Given the description of an element on the screen output the (x, y) to click on. 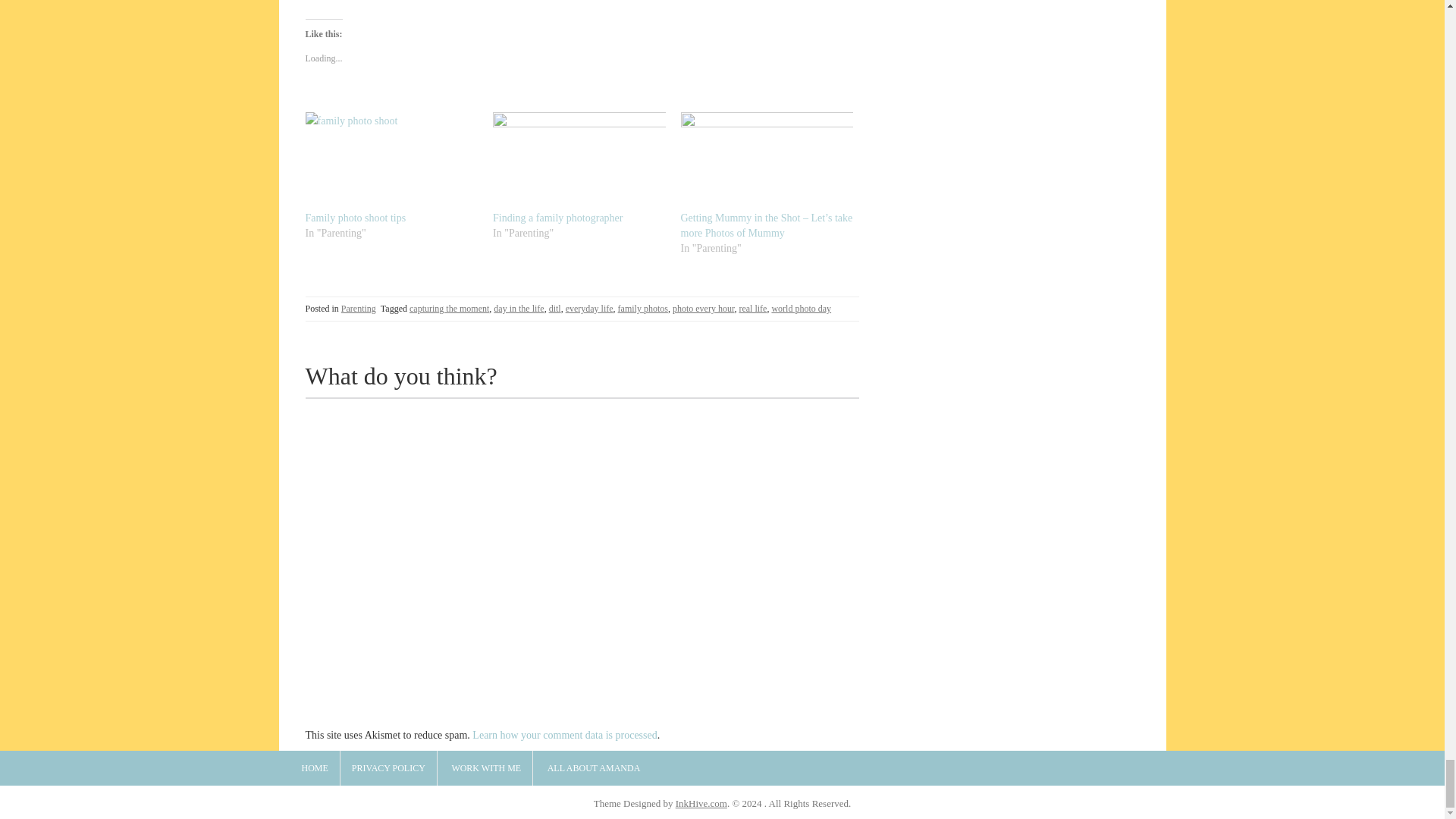
Family photo shoot tips (355, 217)
Finding a family photographer (558, 217)
Finding a family photographer (579, 161)
Family photo shoot tips (390, 161)
